Given the description of an element on the screen output the (x, y) to click on. 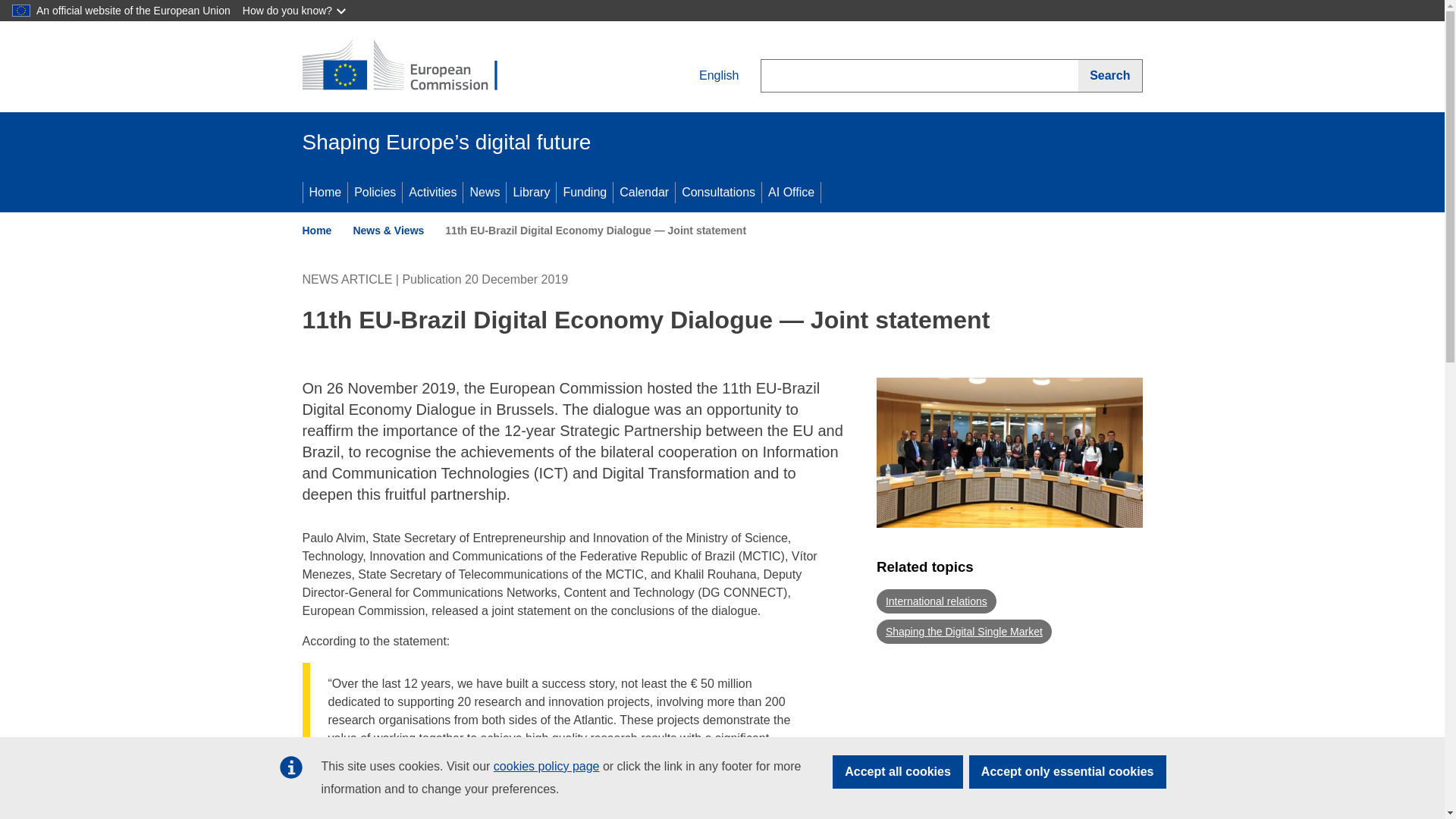
Shaping the Digital Single Market (963, 631)
Funding (584, 192)
Consultations (718, 192)
AI Office (791, 192)
Policies (374, 192)
Skip to main content (5, 6)
Accept all cookies (897, 771)
English (706, 75)
European Commission (411, 66)
Accept only essential cookies (1067, 771)
